Given the description of an element on the screen output the (x, y) to click on. 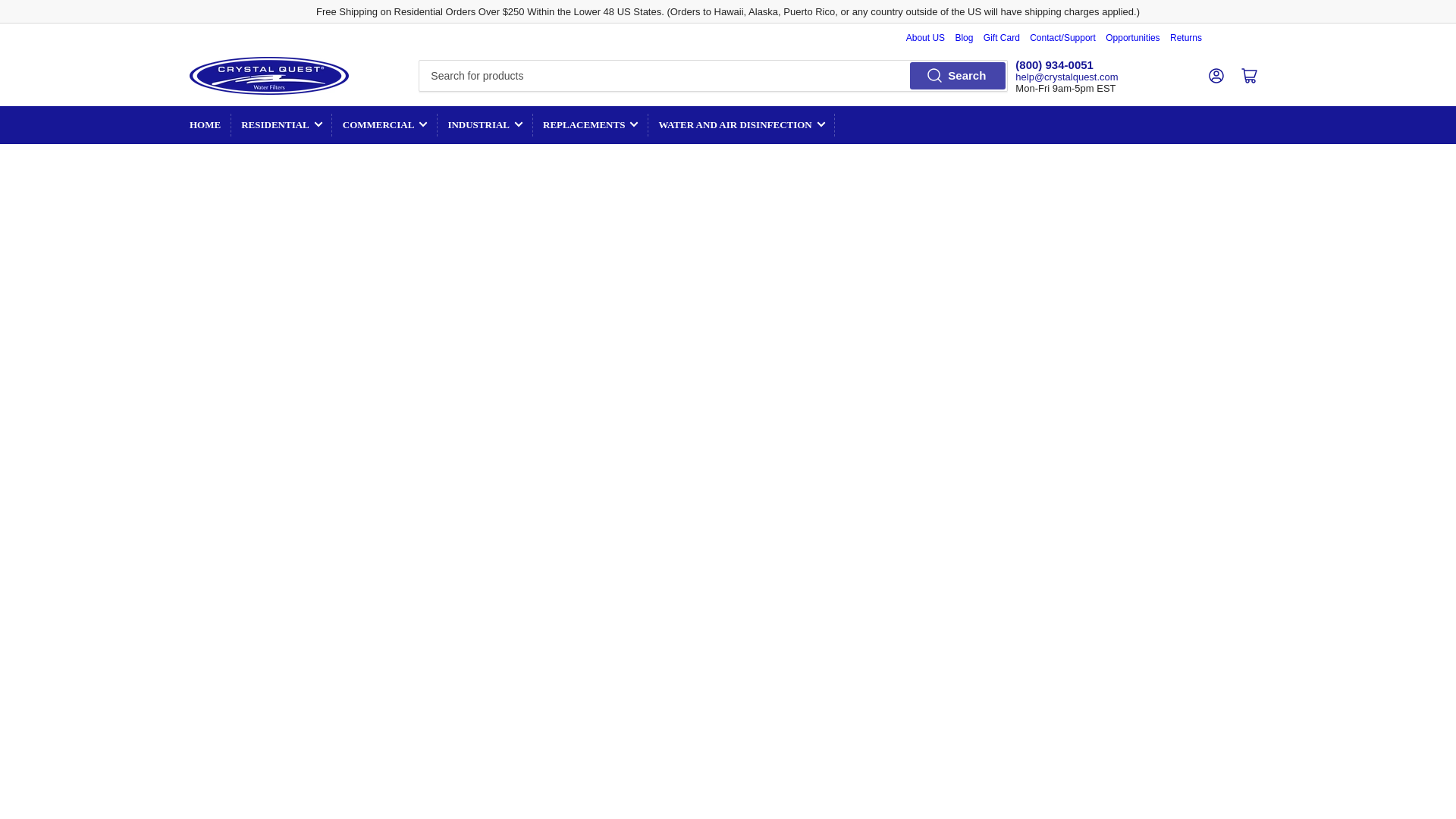
Log in (1216, 75)
Open mini cart (1249, 75)
Returns (1186, 37)
Search (957, 75)
Blog (963, 37)
Gift Card (1002, 37)
Opportunities (1133, 37)
About US (924, 37)
